Given the description of an element on the screen output the (x, y) to click on. 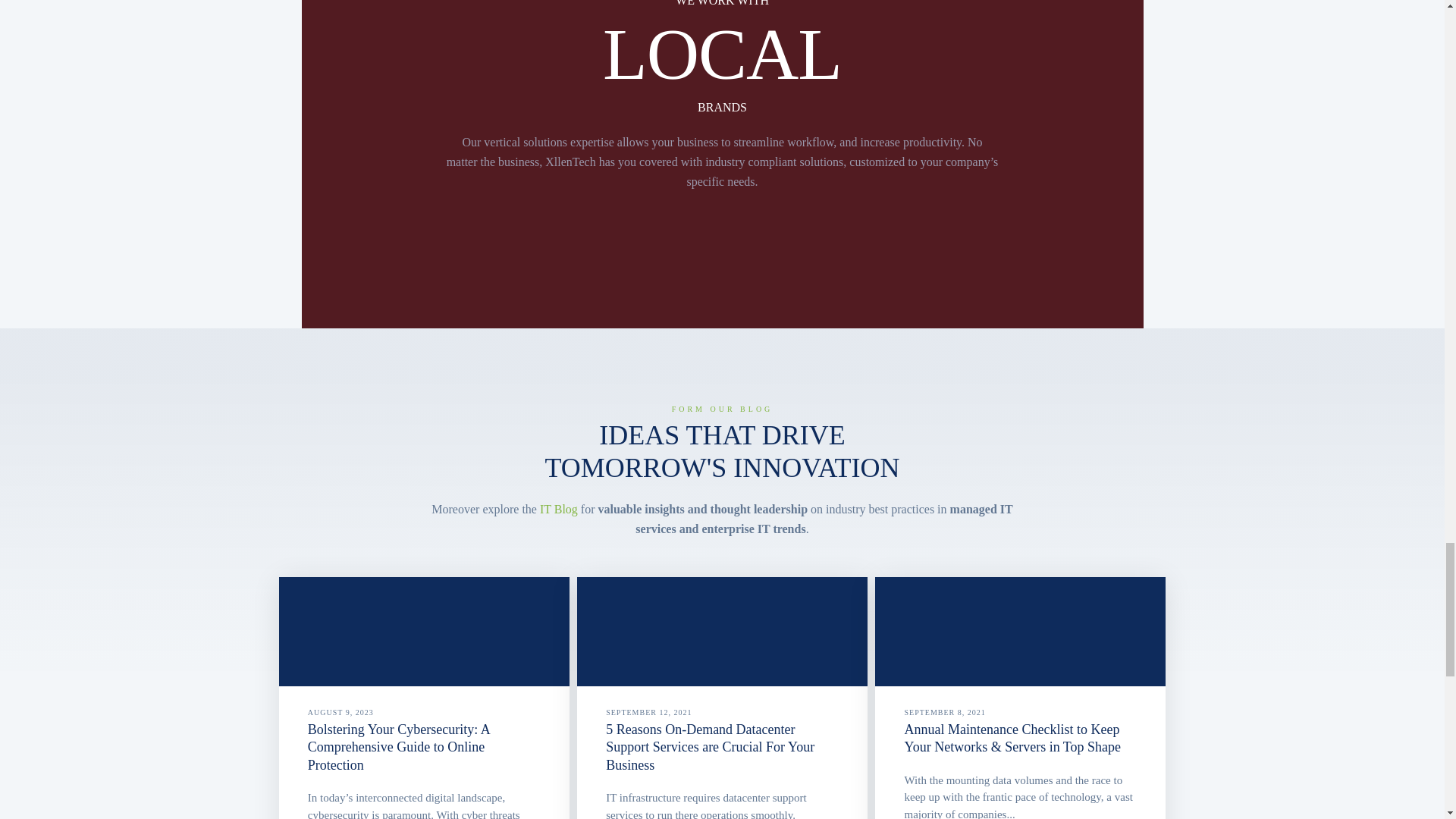
cyber-security-online-protection (424, 631)
McDonalds-1 (604, 248)
revital-health-physio-gray (957, 248)
solid-systems-global-gray (839, 248)
jaffery-opticals-2 (486, 248)
Stratum-Reservoir-Logo-gray (722, 248)
